Given the description of an element on the screen output the (x, y) to click on. 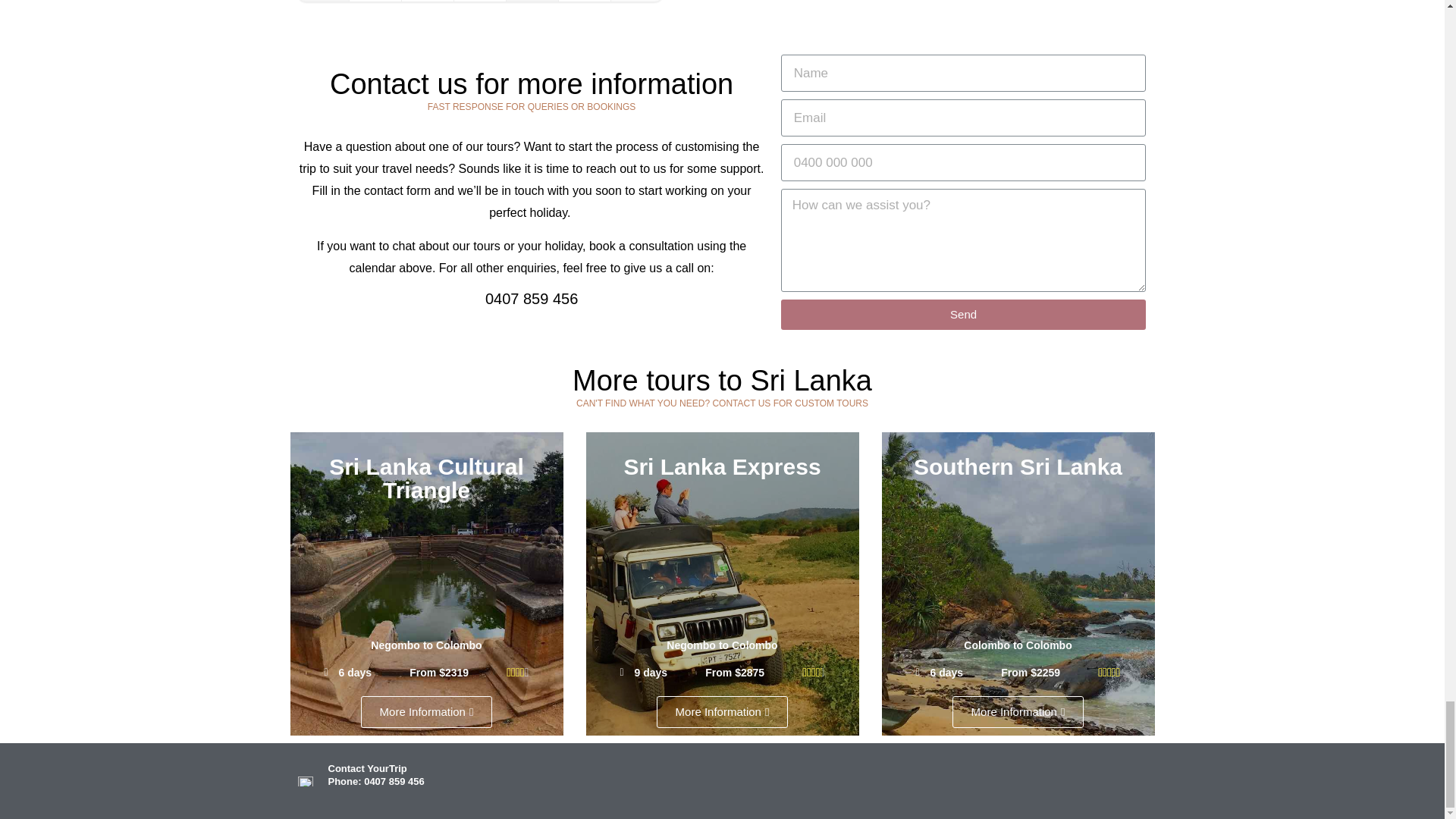
More Information (1018, 712)
11 Available (584, 0)
3 Available (375, 0)
3 Available (479, 0)
Southern Sri Lanka (1018, 466)
Sri Lanka Cultural Triangle (426, 478)
More Information (722, 712)
Sri Lanka Express (722, 466)
Send (963, 314)
More Information (427, 712)
